Given the description of an element on the screen output the (x, y) to click on. 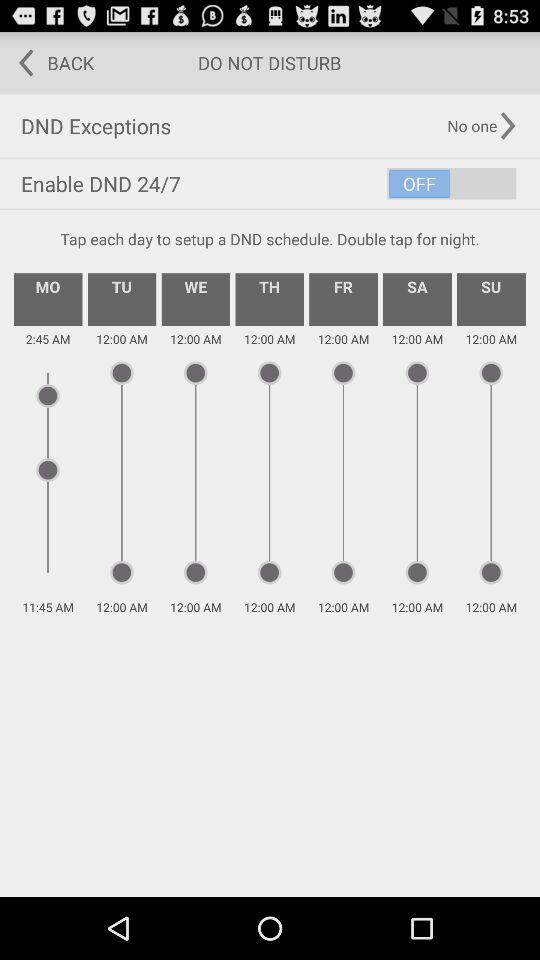
flip until the we icon (195, 299)
